Given the description of an element on the screen output the (x, y) to click on. 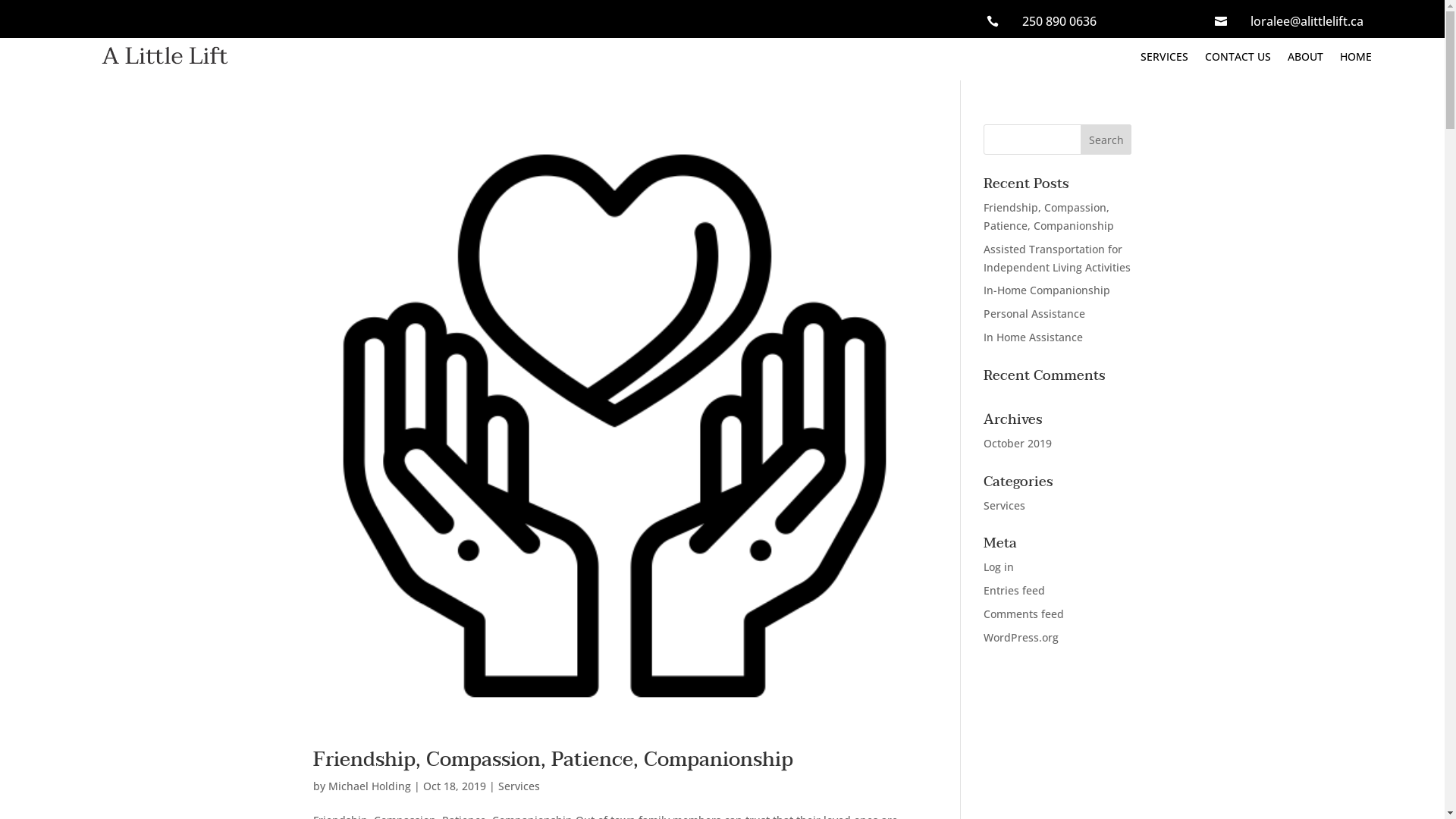
Services Element type: text (518, 785)
Log in Element type: text (998, 566)
HOME Element type: text (1355, 59)
Entries feed Element type: text (1013, 590)
October 2019 Element type: text (1017, 443)
Personal Assistance Element type: text (1034, 313)
Search Element type: text (1106, 139)
Services Element type: text (1004, 505)
CONTACT US Element type: text (1237, 59)
WordPress.org Element type: text (1020, 637)
A Little Lift - Logo Concept - No Tagline Element type: hover (164, 55)
Friendship, Compassion, Patience, Companionship Element type: text (552, 759)
Comments feed Element type: text (1023, 613)
Assisted Transportation for Independent Living Activities Element type: text (1056, 257)
SERVICES Element type: text (1164, 59)
Send Element type: text (17, 0)
Michael Holding Element type: text (368, 785)
In Home Assistance Element type: text (1032, 336)
250 890 0636 Element type: text (1059, 20)
Friendship, Compassion, Patience, Companionship Element type: text (1048, 216)
In-Home Companionship Element type: text (1046, 289)
ABOUT Element type: text (1305, 59)
loralee@alittlelift.ca Element type: text (1306, 20)
